Given the description of an element on the screen output the (x, y) to click on. 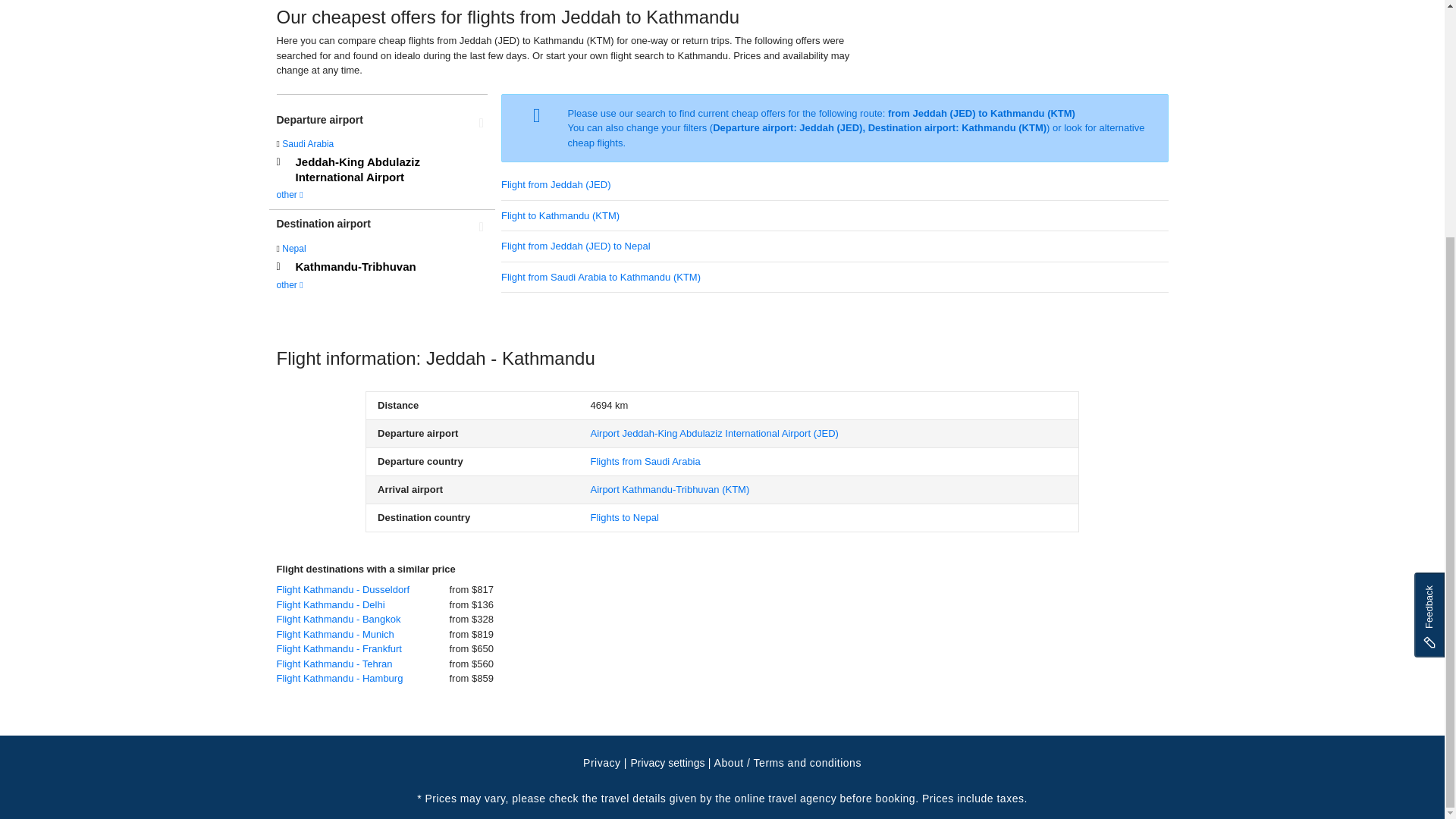
Flight Kathmandu - Bangkok (341, 619)
Privacy settings (667, 763)
Flight Kathmandu - Frankfurt (342, 648)
Flight Kathmandu - Delhi (333, 604)
Flight Kathmandu - Dusseldorf (346, 589)
Flights from Saudi Arabia (644, 460)
Flight Kathmandu - Tehran (337, 663)
Jeddah-King Abdulaziz International Airport (381, 169)
Nepal (293, 248)
Privacy (601, 762)
